Given the description of an element on the screen output the (x, y) to click on. 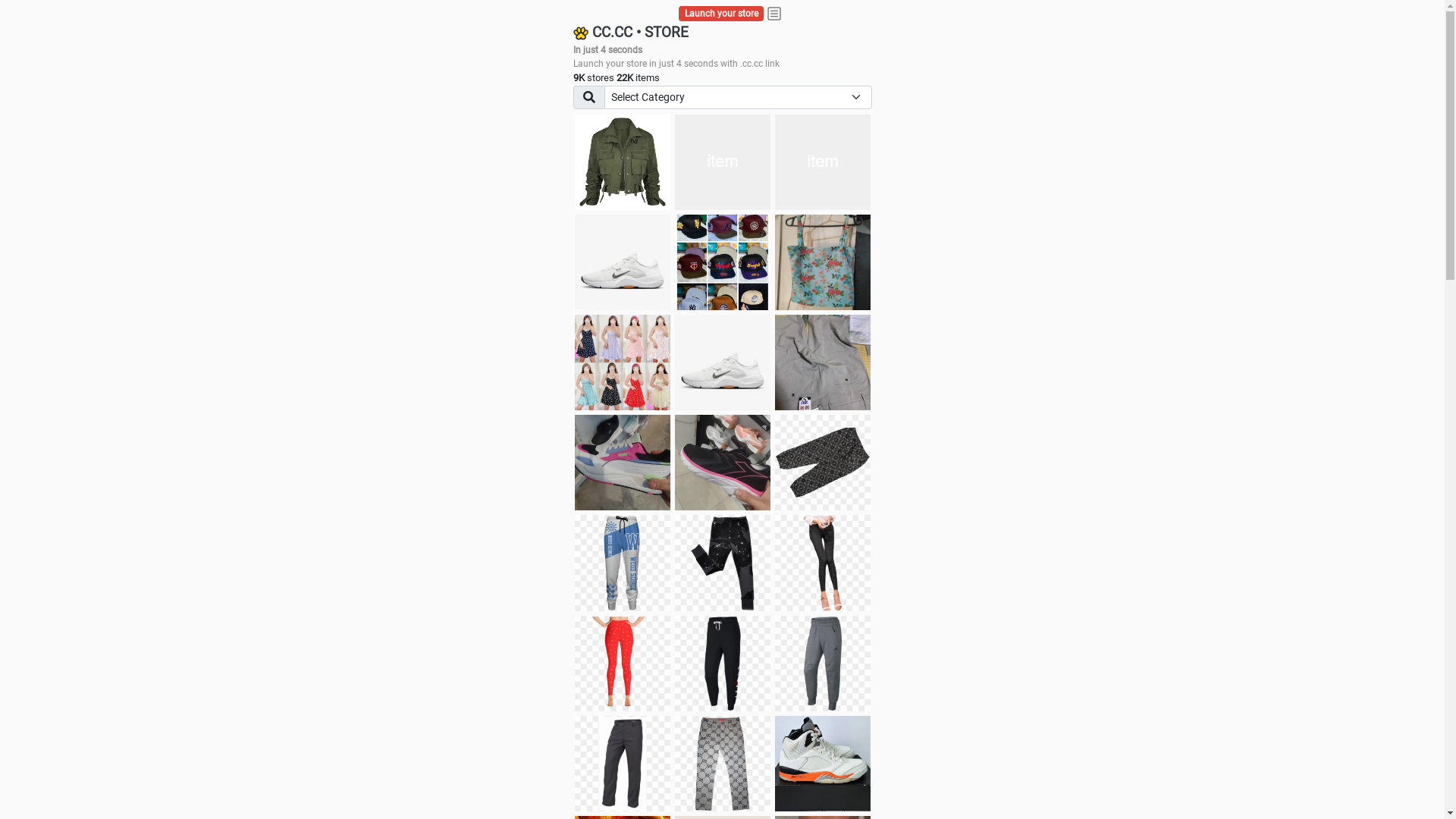
Things we need Element type: hover (722, 262)
Pant Element type: hover (622, 562)
Pant Element type: hover (722, 763)
Shoe Element type: hover (822, 763)
Pant Element type: hover (722, 562)
Pant Element type: hover (622, 763)
Dress/square nect top Element type: hover (622, 362)
Launch your store Element type: text (721, 13)
Shoes for boys Element type: hover (622, 262)
jacket Element type: hover (622, 162)
Short pant Element type: hover (822, 462)
Ukay cloth Element type: hover (822, 262)
Pant Element type: hover (722, 663)
Zapatillas Element type: hover (722, 462)
Pant Element type: hover (822, 663)
Zapatillas pumas Element type: hover (622, 462)
white shoes Element type: hover (722, 162)
Pant Element type: hover (822, 562)
Pant Element type: hover (622, 663)
shoes for boys Element type: hover (822, 162)
Shoes Element type: hover (722, 362)
